Given the description of an element on the screen output the (x, y) to click on. 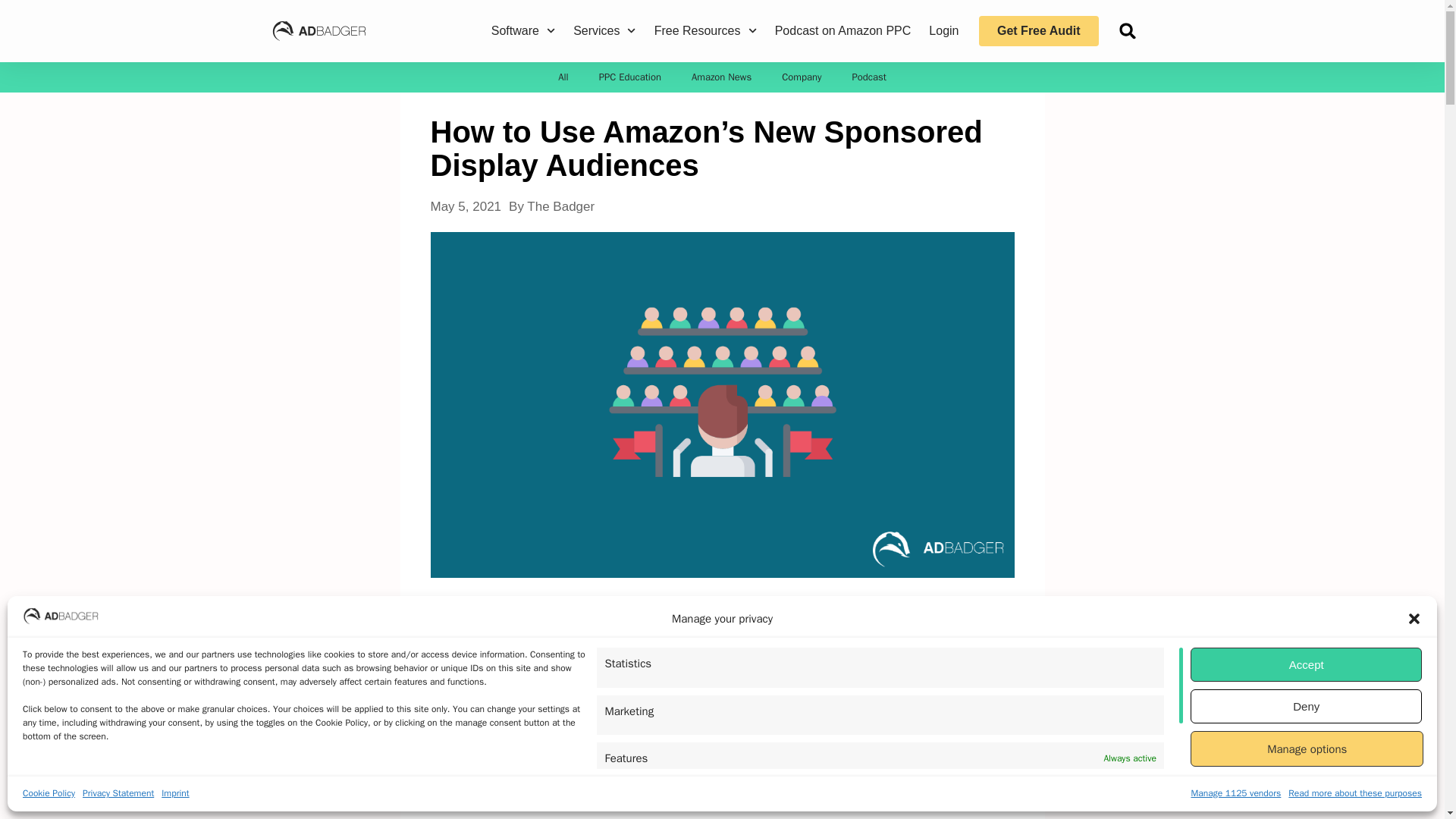
Imprint (175, 793)
Services (604, 31)
Manage options (1307, 748)
Manage 1125 vendors (1236, 793)
Accept (1306, 664)
Read more about these purposes (1355, 793)
Deny (1306, 706)
Privacy Statement (118, 793)
Software (522, 31)
Cookie Policy (49, 793)
